Given the description of an element on the screen output the (x, y) to click on. 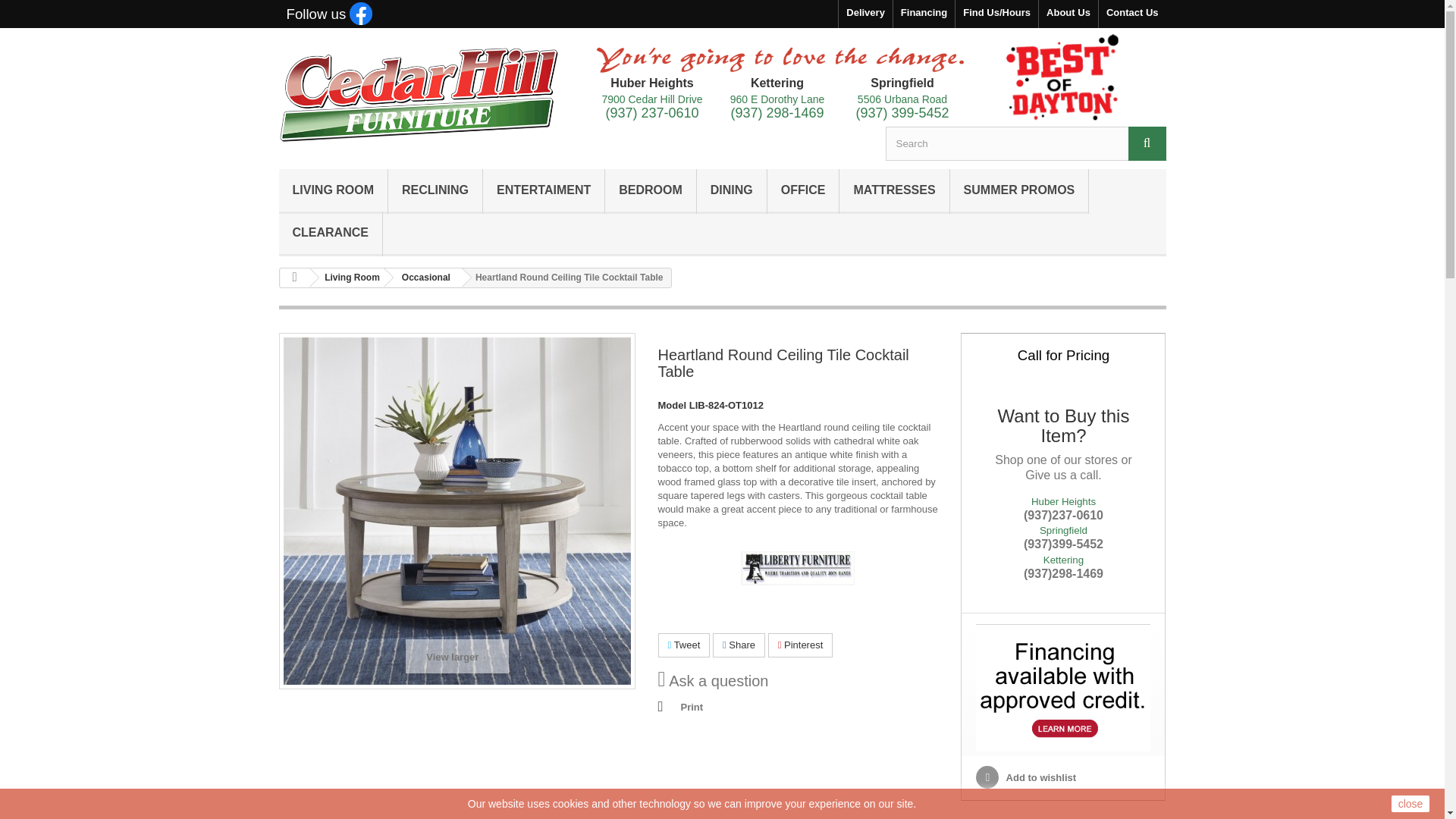
Follow us (329, 15)
Follow us on Facebook (329, 15)
MATTRESSES (894, 190)
About Us (1068, 13)
Huber Heights (651, 82)
Cedar Hill Furniture (419, 94)
Living Room (333, 190)
Delivery (865, 13)
7900 Cedar Hill Drive (651, 99)
Financing (924, 13)
